Given the description of an element on the screen output the (x, y) to click on. 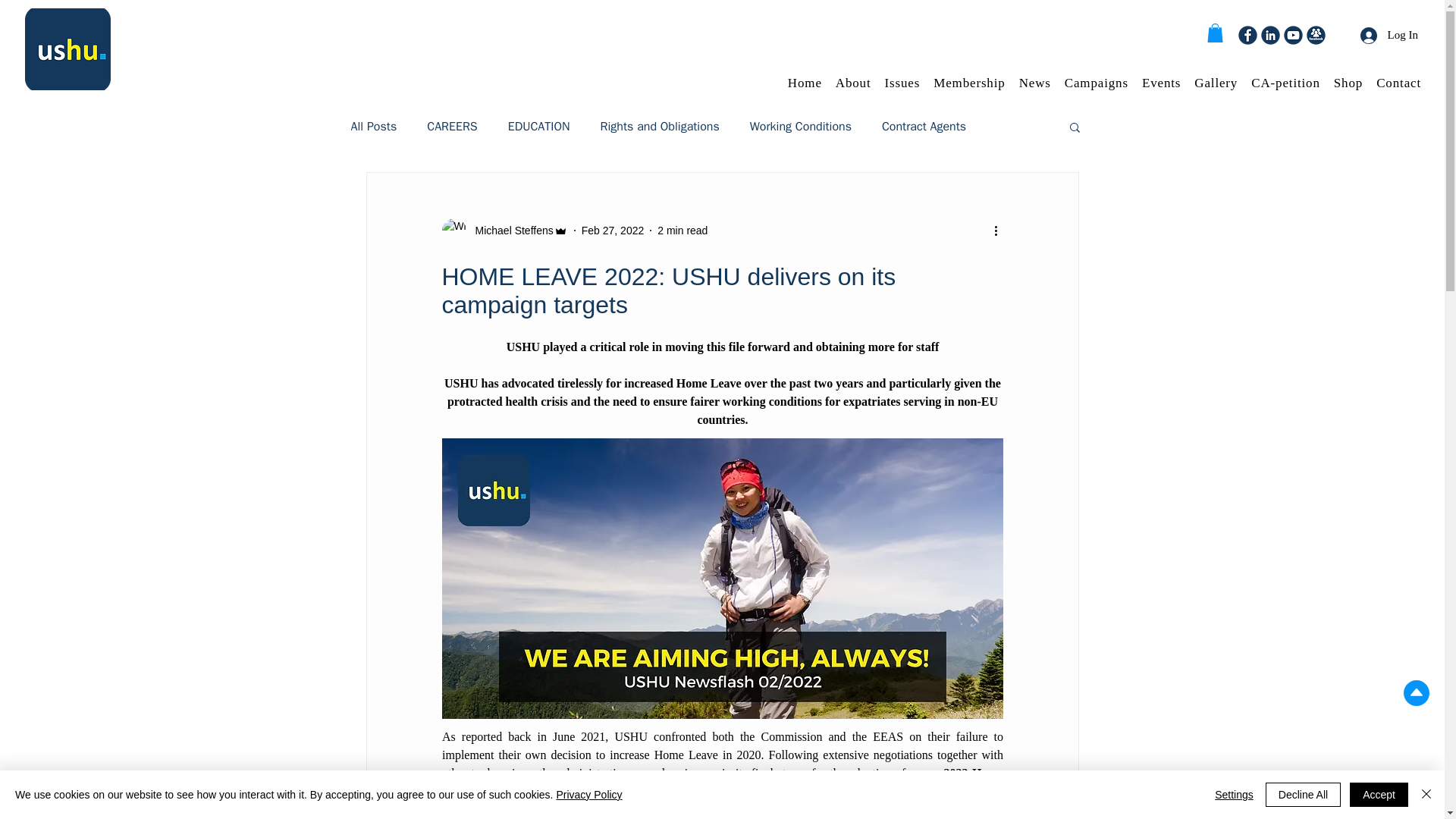
Shop (1347, 83)
CAREERS (451, 125)
All Posts (373, 125)
About (853, 83)
Feb 27, 2022 (612, 230)
Gallery (1215, 83)
Michael Steffens (504, 230)
Contract Agents (924, 125)
Membership (968, 83)
Campaigns (1096, 83)
Contact (1398, 83)
Michael Steffens (509, 230)
CA-petition (1285, 83)
Issues (902, 83)
Working Conditions (800, 125)
